Given the description of an element on the screen output the (x, y) to click on. 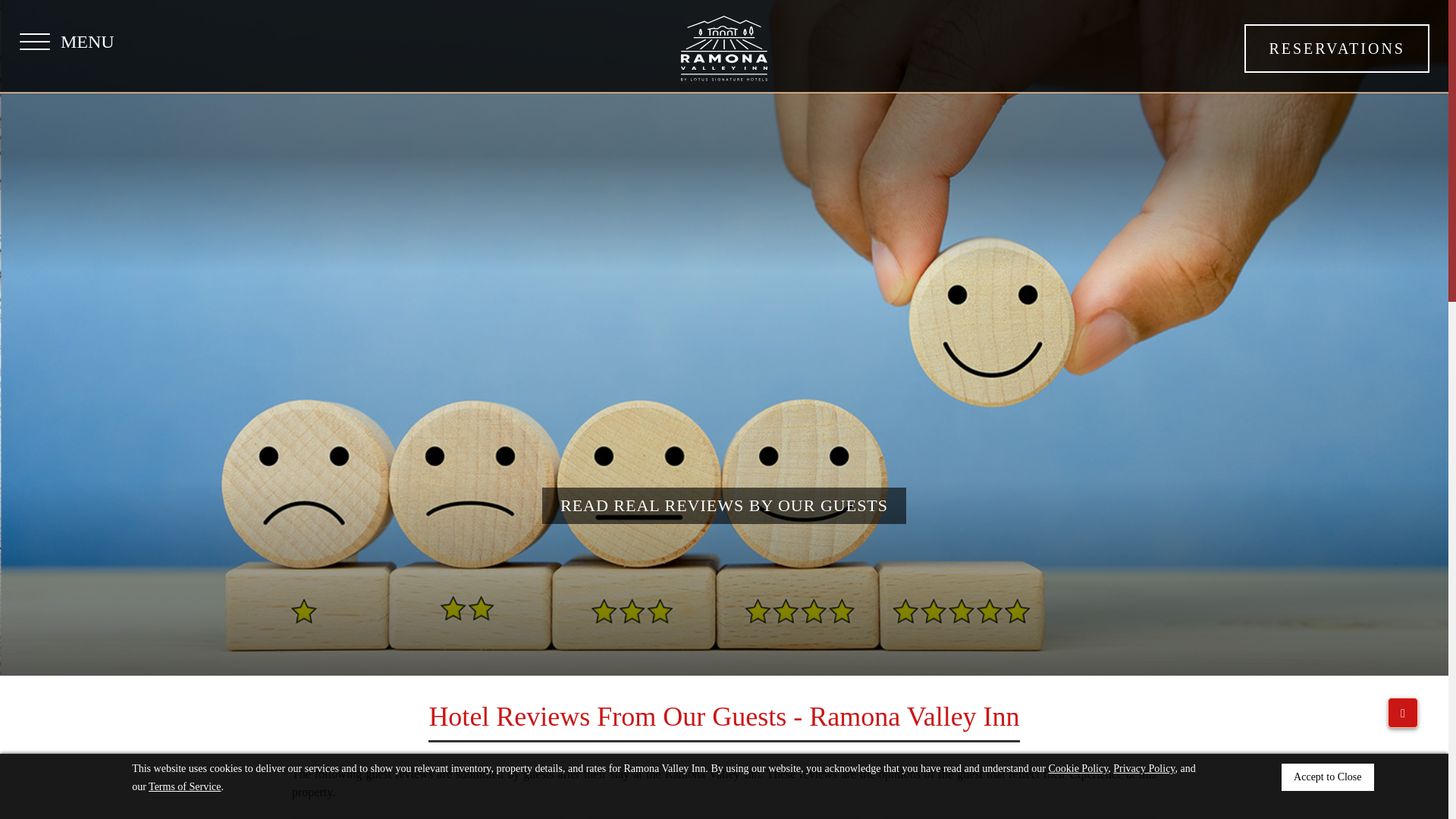
RESERVATIONS (1336, 48)
Scroll To Top (1402, 712)
Reservations (1336, 48)
Menu (66, 41)
MENU (66, 41)
